Given the description of an element on the screen output the (x, y) to click on. 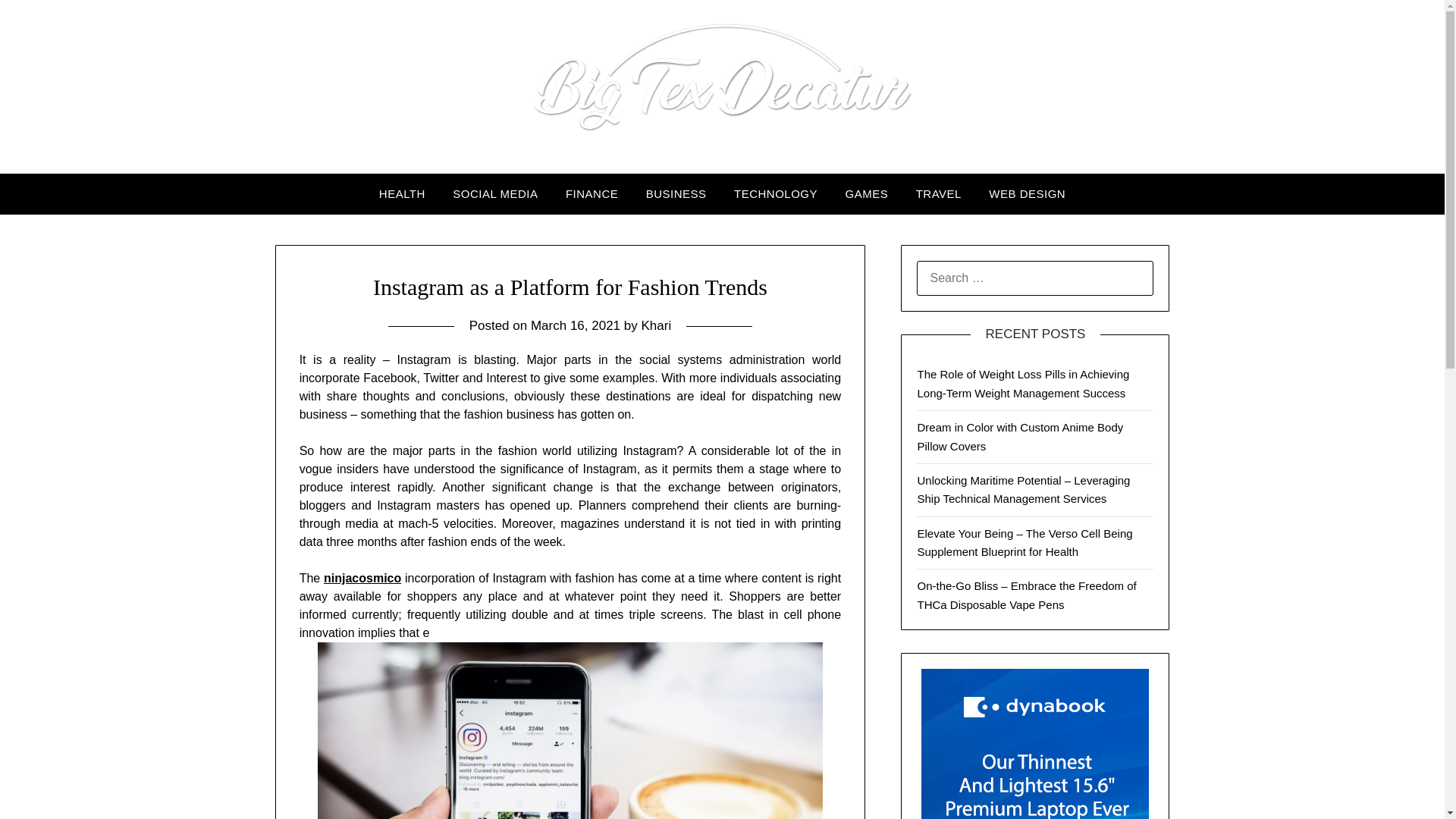
GAMES (865, 193)
HEALTH (402, 193)
BUSINESS (676, 193)
March 16, 2021 (575, 325)
WEB DESIGN (1026, 193)
TECHNOLOGY (775, 193)
SOCIAL MEDIA (495, 193)
FINANCE (591, 193)
Search (38, 22)
ninjacosmico (362, 577)
TRAVEL (939, 193)
Dream in Color with Custom Anime Body Pillow Covers (1019, 436)
Khari (655, 325)
